Given the description of an element on the screen output the (x, y) to click on. 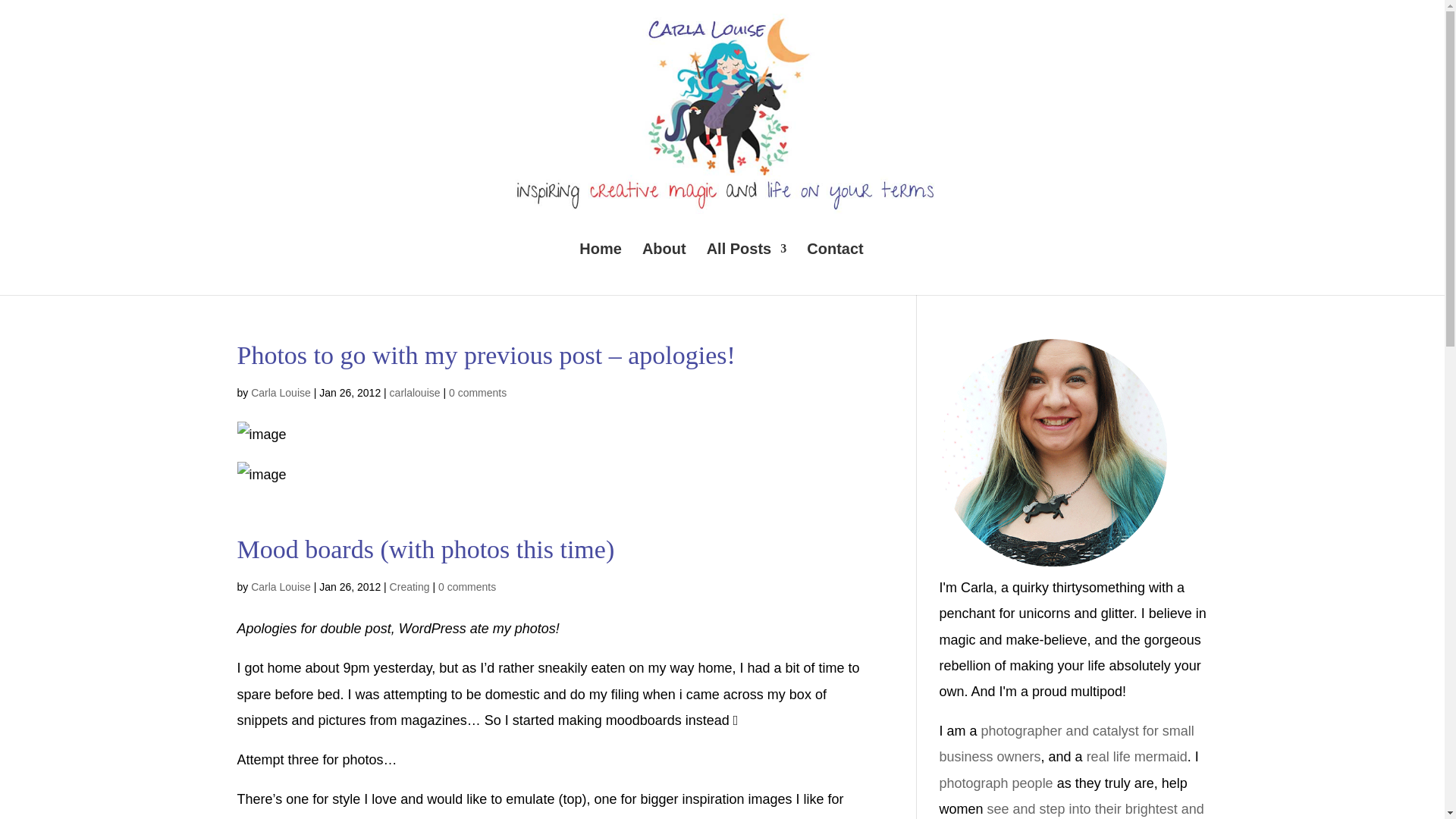
Posts by Carla Louise (280, 392)
real life mermaid (1137, 756)
All Posts (746, 268)
photograph people (995, 782)
Carla Louise (280, 586)
Contact (834, 268)
Posts by Carla Louise (280, 586)
IMAG0076.jpg (260, 434)
0 comments (467, 586)
Creating (409, 586)
